Given the description of an element on the screen output the (x, y) to click on. 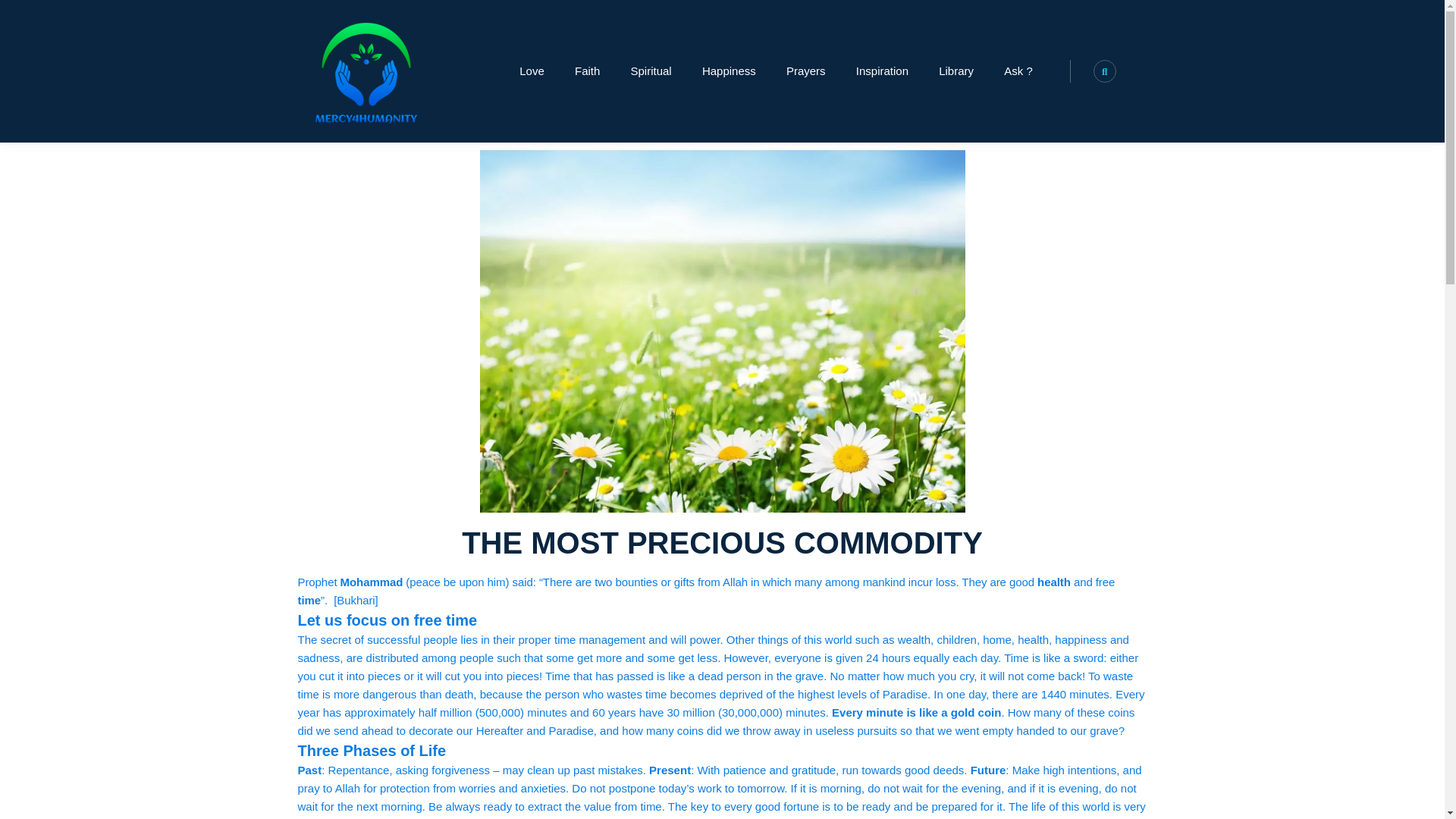
Prayers (806, 71)
Spiritual (651, 71)
Faith (586, 71)
Love (531, 71)
Happiness (729, 71)
Inspiration (882, 71)
